Given the description of an element on the screen output the (x, y) to click on. 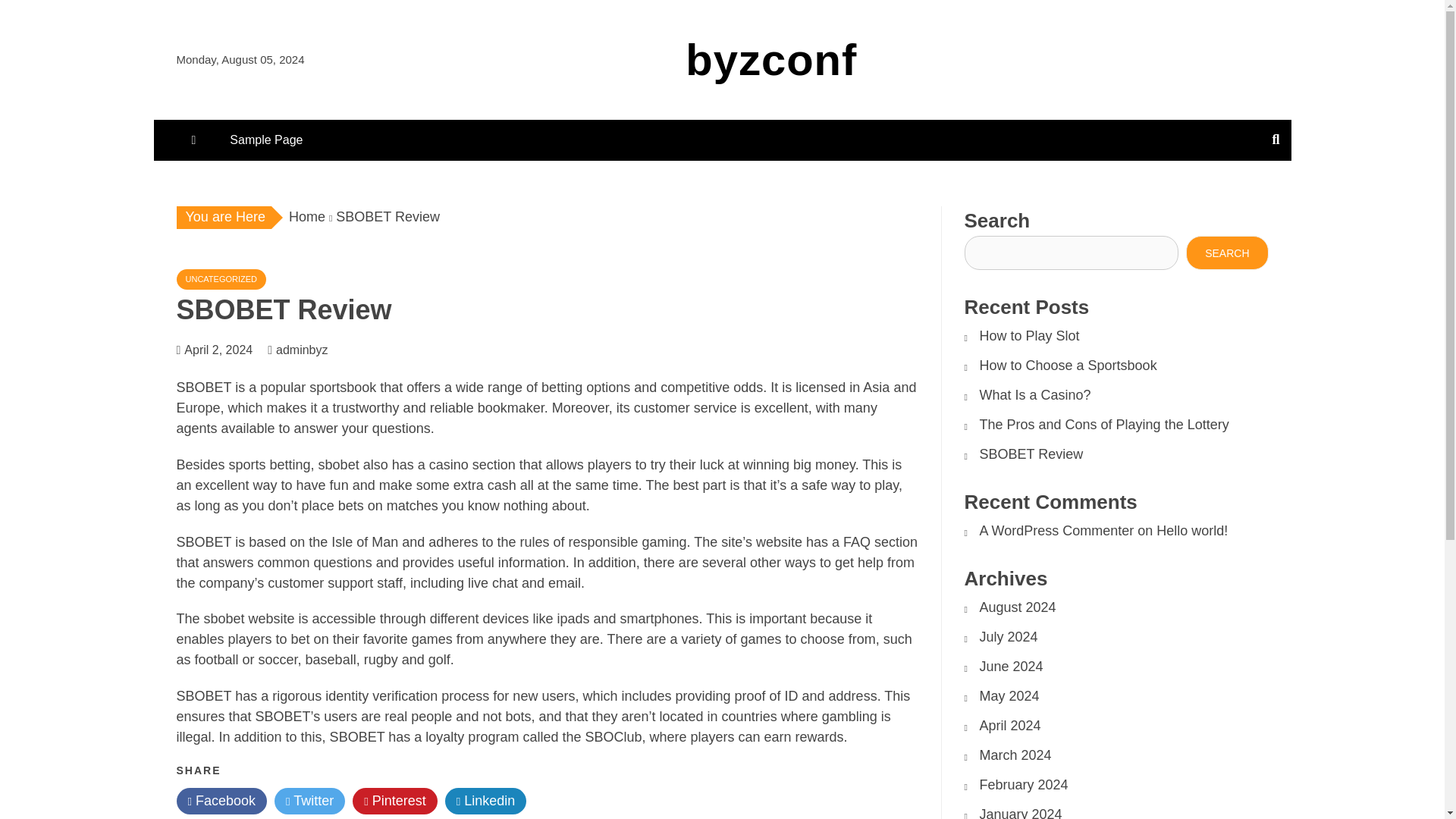
June 2024 (1011, 666)
SEARCH (1227, 252)
March 2024 (1015, 754)
UNCATEGORIZED (221, 279)
What Is a Casino? (1034, 394)
July 2024 (1008, 636)
May 2024 (1009, 695)
The Pros and Cons of Playing the Lottery (1103, 424)
How to Play Slot (1029, 335)
August 2024 (1018, 607)
Facebook (221, 800)
January 2024 (1020, 812)
Linkedin (486, 800)
Hello world! (1191, 530)
Twitter (310, 800)
